Given the description of an element on the screen output the (x, y) to click on. 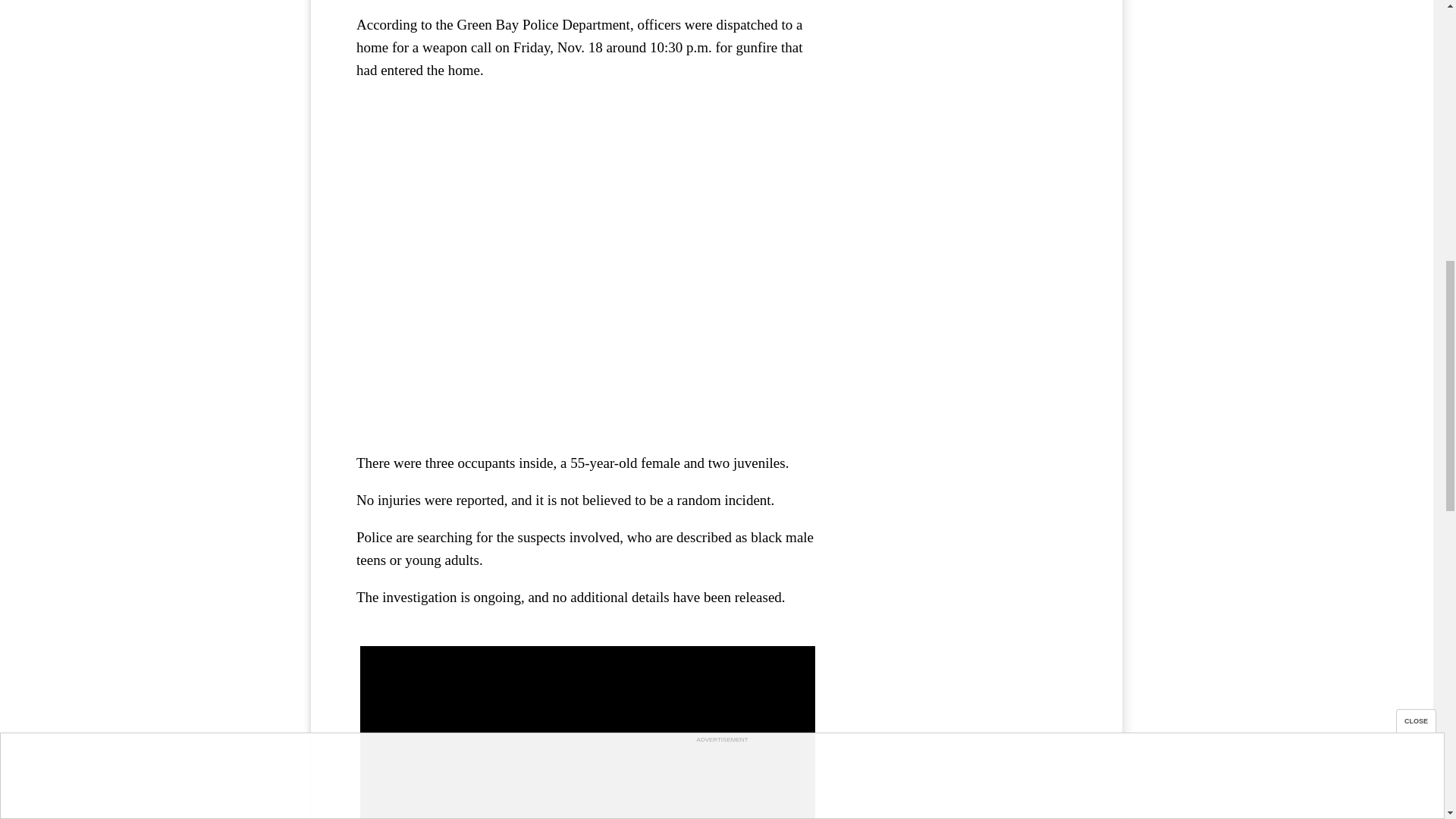
3rd party ad content (962, 43)
